Given the description of an element on the screen output the (x, y) to click on. 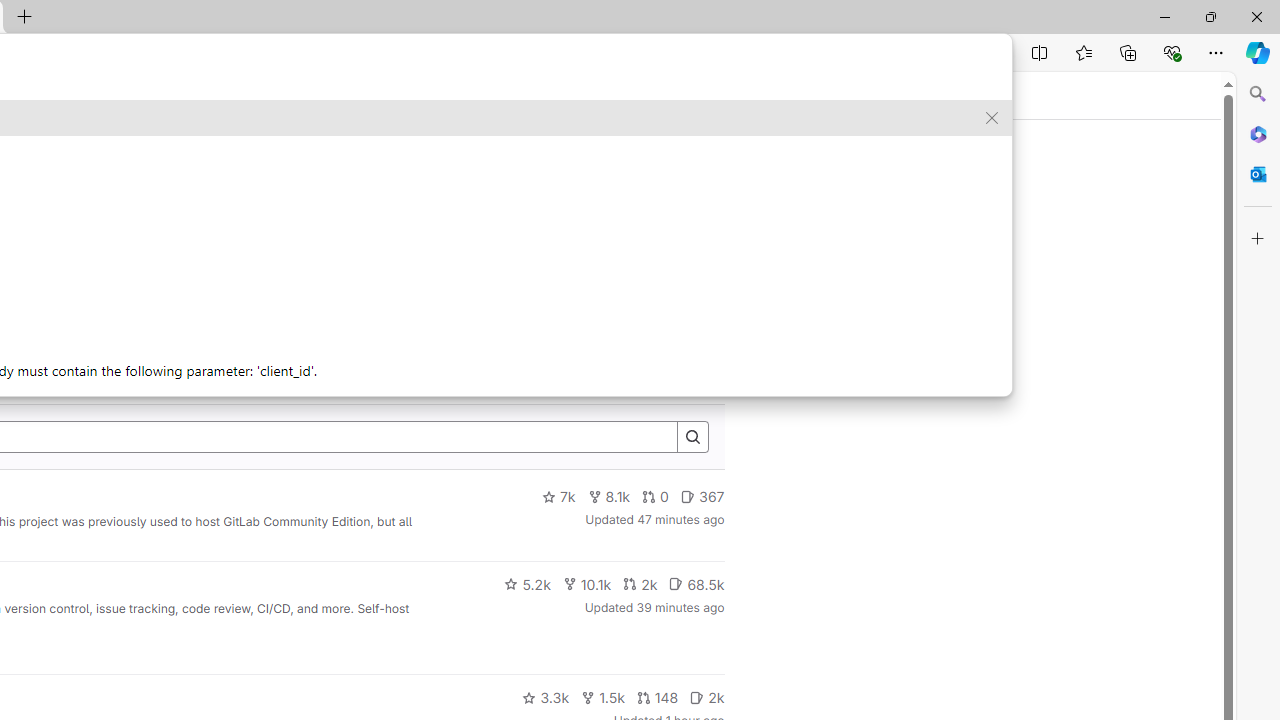
1.5k (602, 697)
5.2k (527, 583)
8.1k (609, 497)
68.5k (696, 583)
3.3k (545, 697)
Dismiss trial promotion (703, 164)
7k (558, 497)
2k (706, 697)
